Given the description of an element on the screen output the (x, y) to click on. 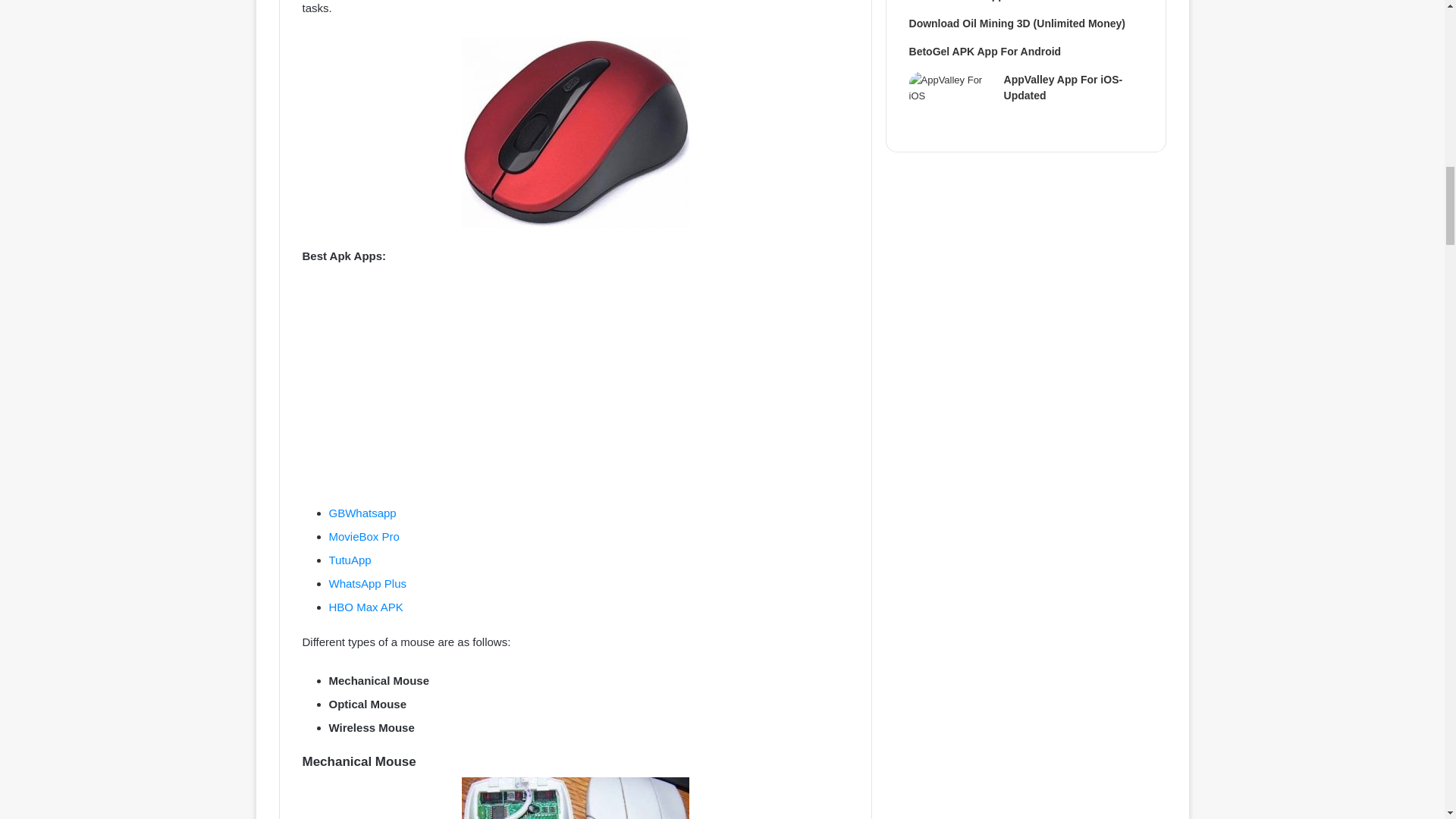
TutuApp (350, 559)
HBO Max APK (366, 606)
MovieBox Pro (363, 535)
WhatsApp Plus (368, 583)
GBWhatsapp (362, 512)
